Given the description of an element on the screen output the (x, y) to click on. 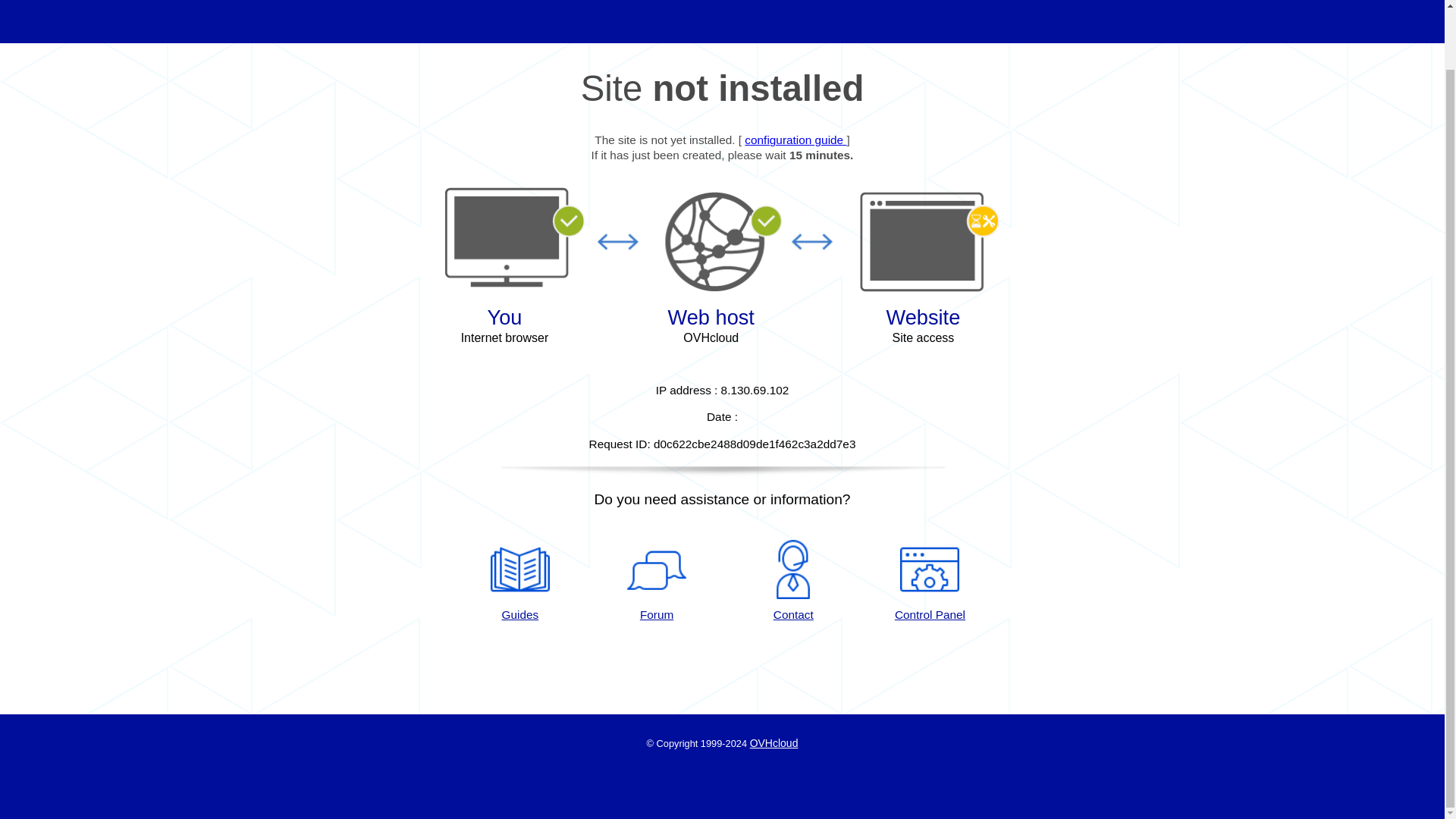
Guides (519, 581)
Contact (793, 581)
Control Panel (930, 581)
configuration guide (794, 139)
Forum (656, 581)
Control Panel (930, 581)
OVHcloud (773, 743)
Contact (793, 581)
Forum (656, 581)
Guides (794, 139)
Guides (519, 581)
